Given the description of an element on the screen output the (x, y) to click on. 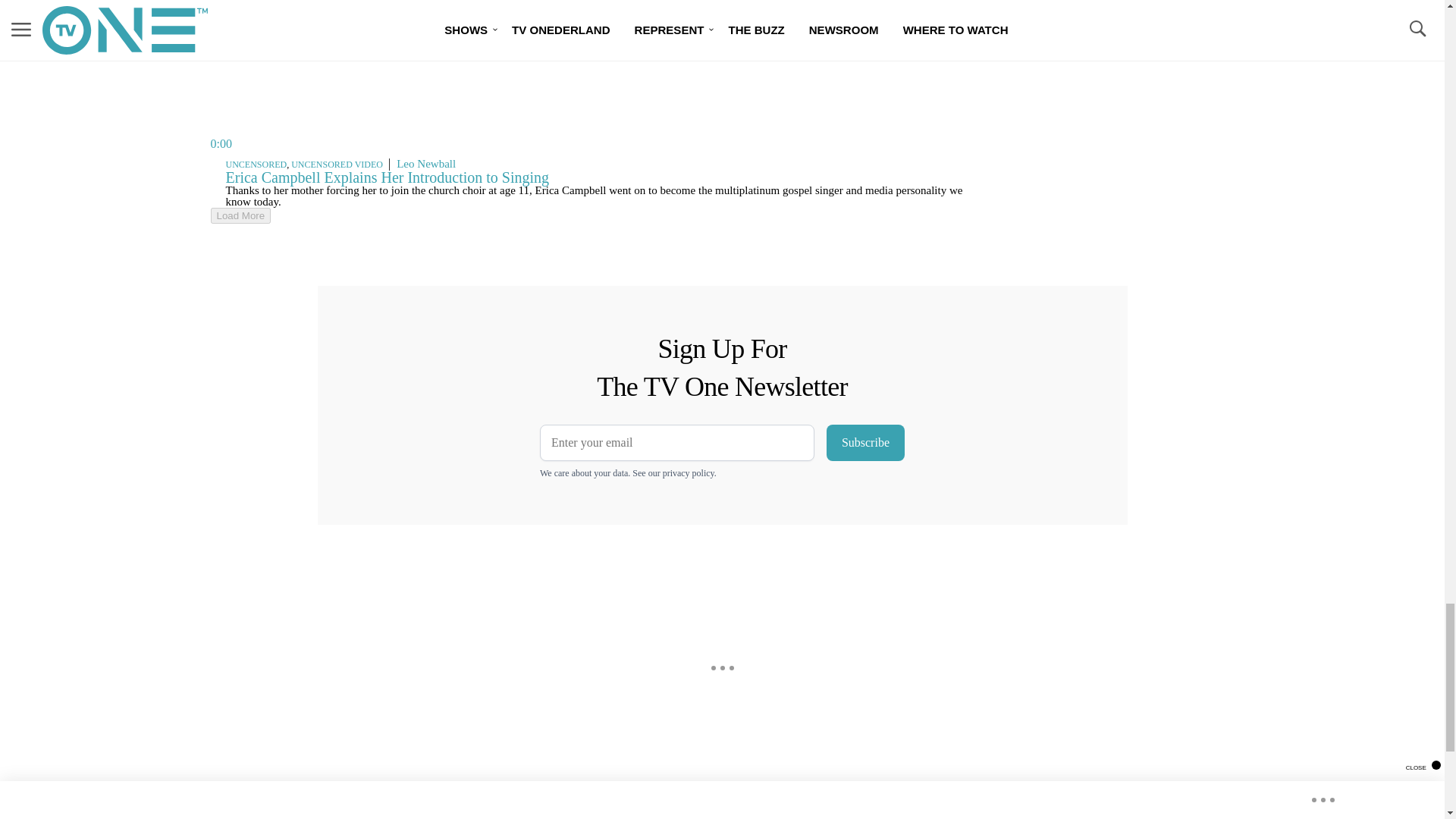
Load More (240, 215)
Load More (596, 215)
